Given the description of an element on the screen output the (x, y) to click on. 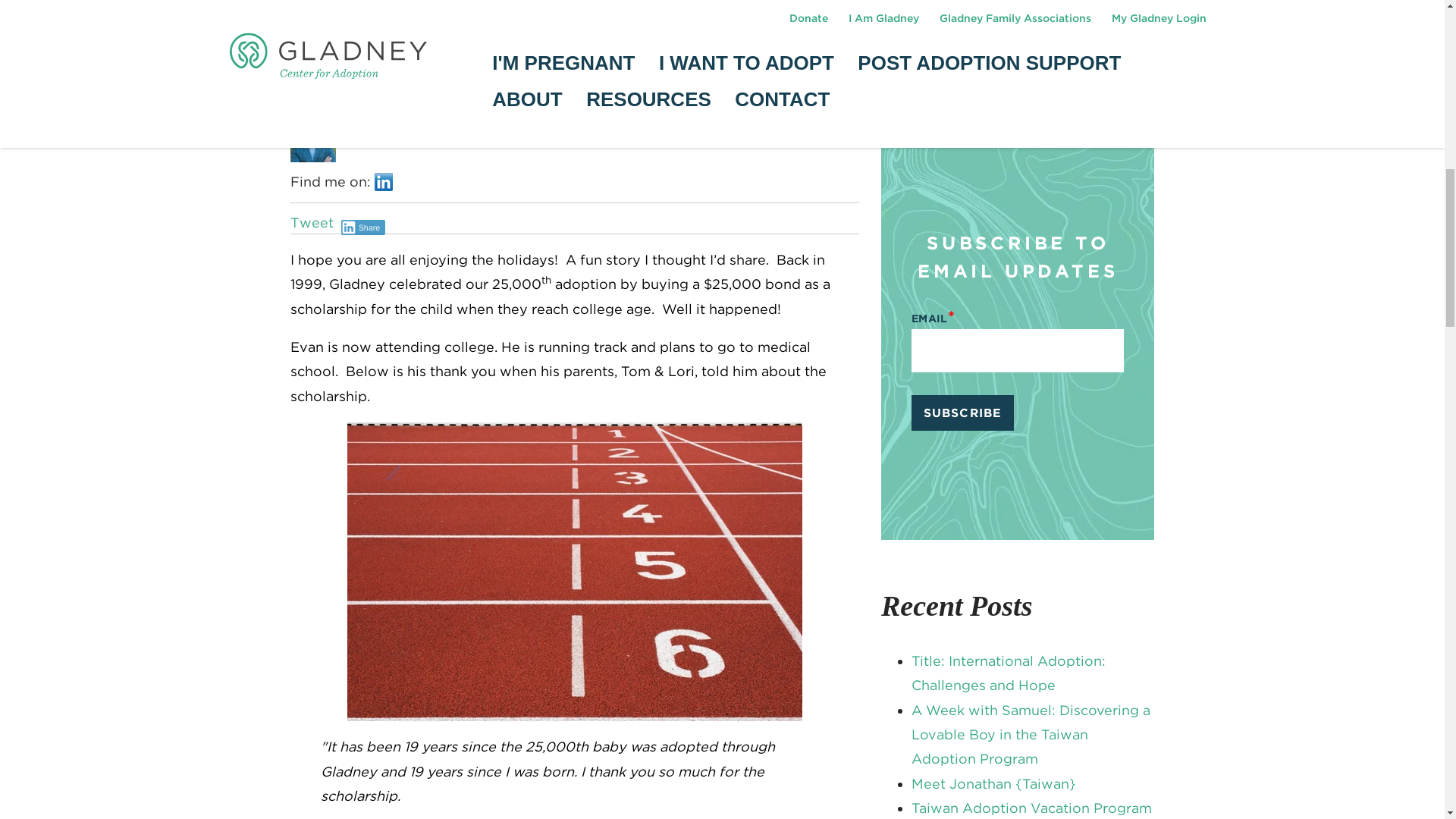
Subscribe (962, 412)
Title: International Adoption: Challenges and Hope (1008, 672)
Taiwan Adoption Vacation Program (1031, 807)
Tweet (311, 222)
Domestic Infant Adoption (987, 25)
Mark Melson (404, 96)
Share (362, 227)
LinkedIn (383, 181)
Subscribe (962, 412)
International Adoption (975, 86)
